Given the description of an element on the screen output the (x, y) to click on. 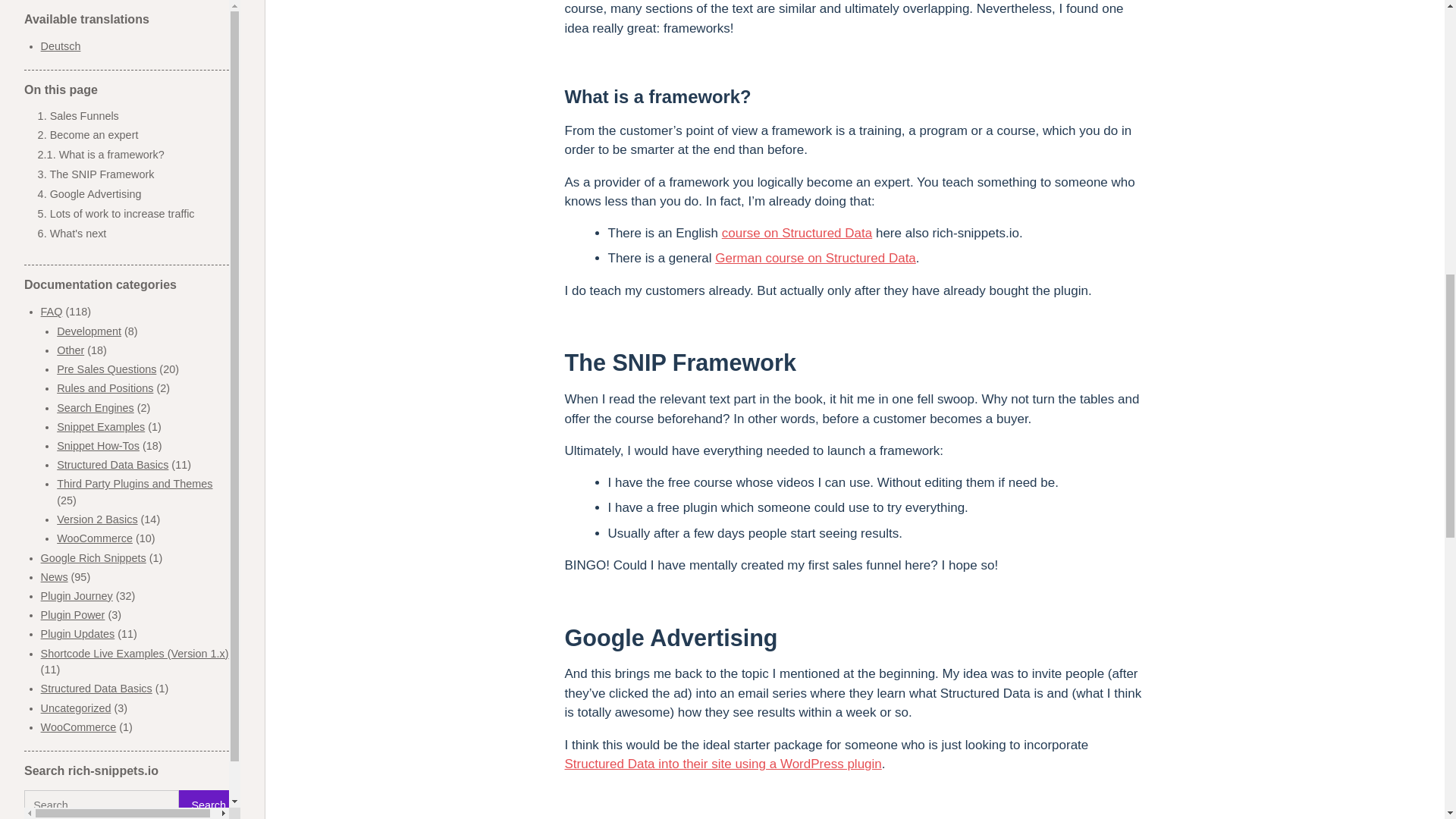
Search (208, 133)
Uncategorized (76, 36)
Structured Data Basics (96, 16)
WooCommerce (78, 55)
Search (208, 133)
Search (208, 133)
